Given the description of an element on the screen output the (x, y) to click on. 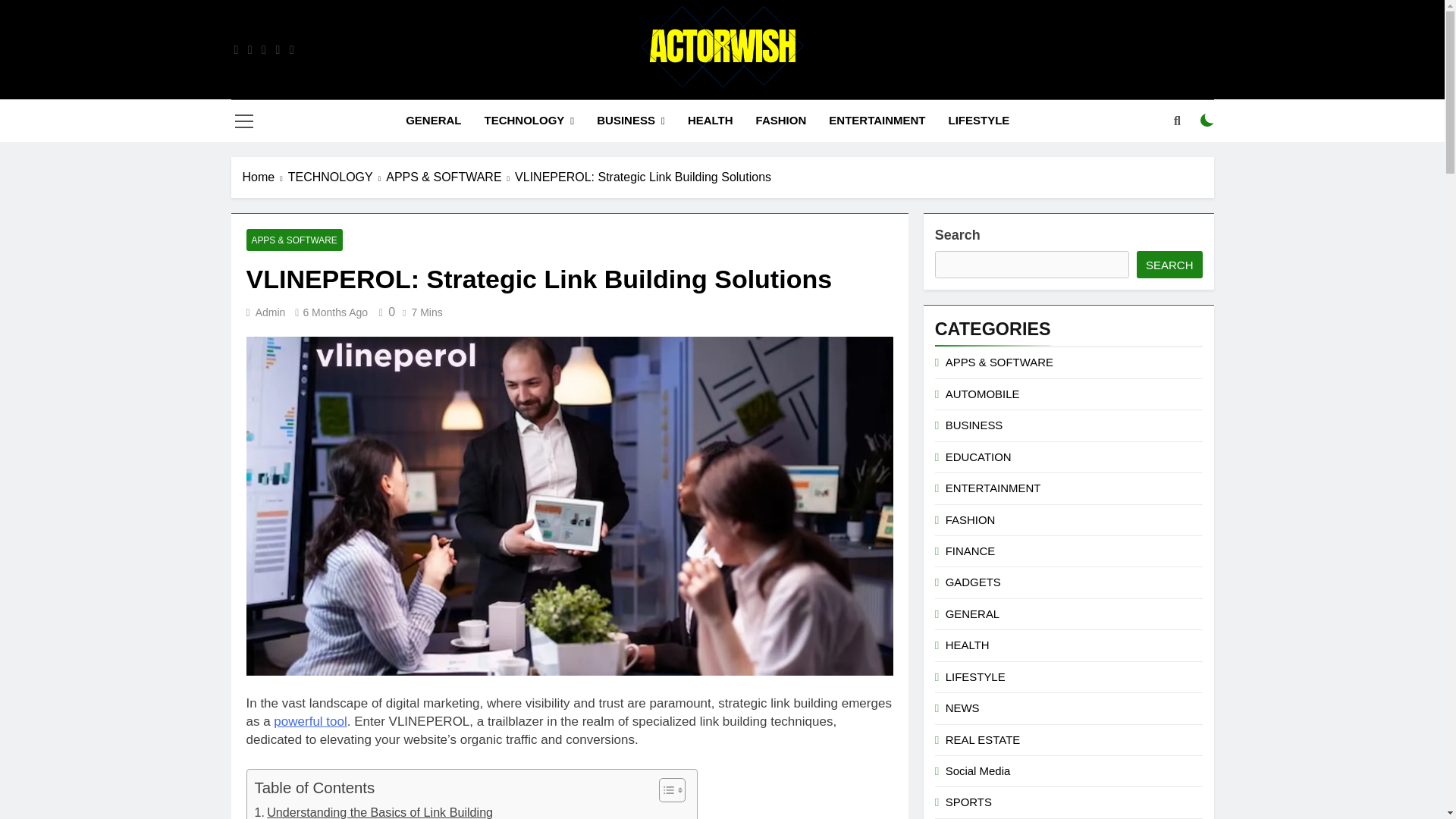
Admin (270, 312)
TECHNOLOGY (528, 120)
HEALTH (710, 119)
6 Months Ago (335, 312)
Understanding the Basics of Link Building (373, 811)
FASHION (781, 119)
powerful tool (309, 721)
ENTERTAINMENT (876, 119)
Actorwish (555, 111)
GENERAL (432, 119)
